Given the description of an element on the screen output the (x, y) to click on. 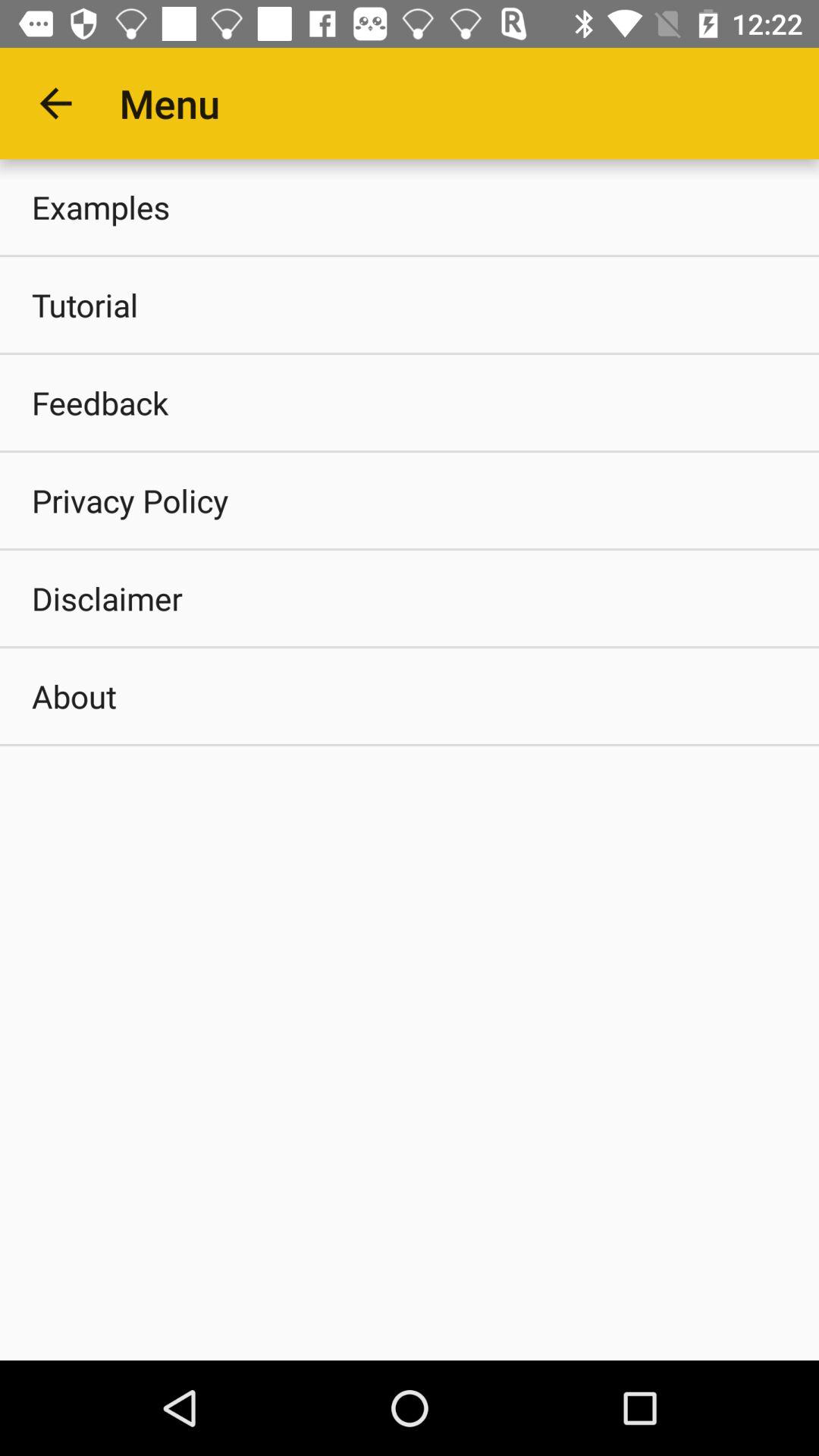
jump to the tutorial item (409, 304)
